Given the description of an element on the screen output the (x, y) to click on. 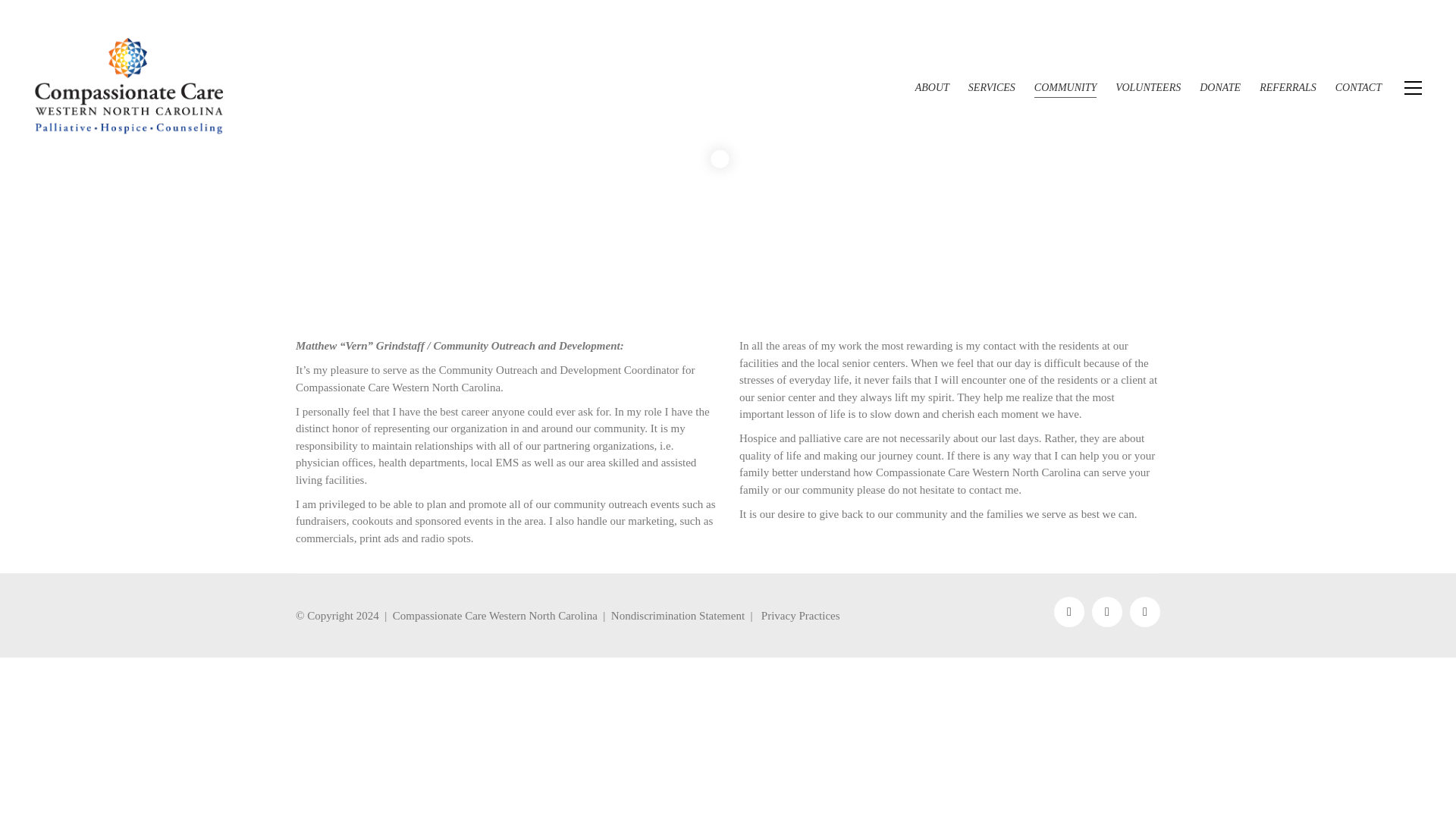
COMMUNITY (1064, 88)
Privacy Practices (800, 615)
Nondiscrimination Statement (677, 615)
CONTACT (1358, 88)
DONATE (1219, 88)
VOLUNTEERS (1147, 88)
ABOUT (932, 88)
Google (1144, 612)
REFERRALS (1287, 88)
LinkedIn (1107, 612)
SERVICES (991, 88)
Facebook (1069, 612)
